Given the description of an element on the screen output the (x, y) to click on. 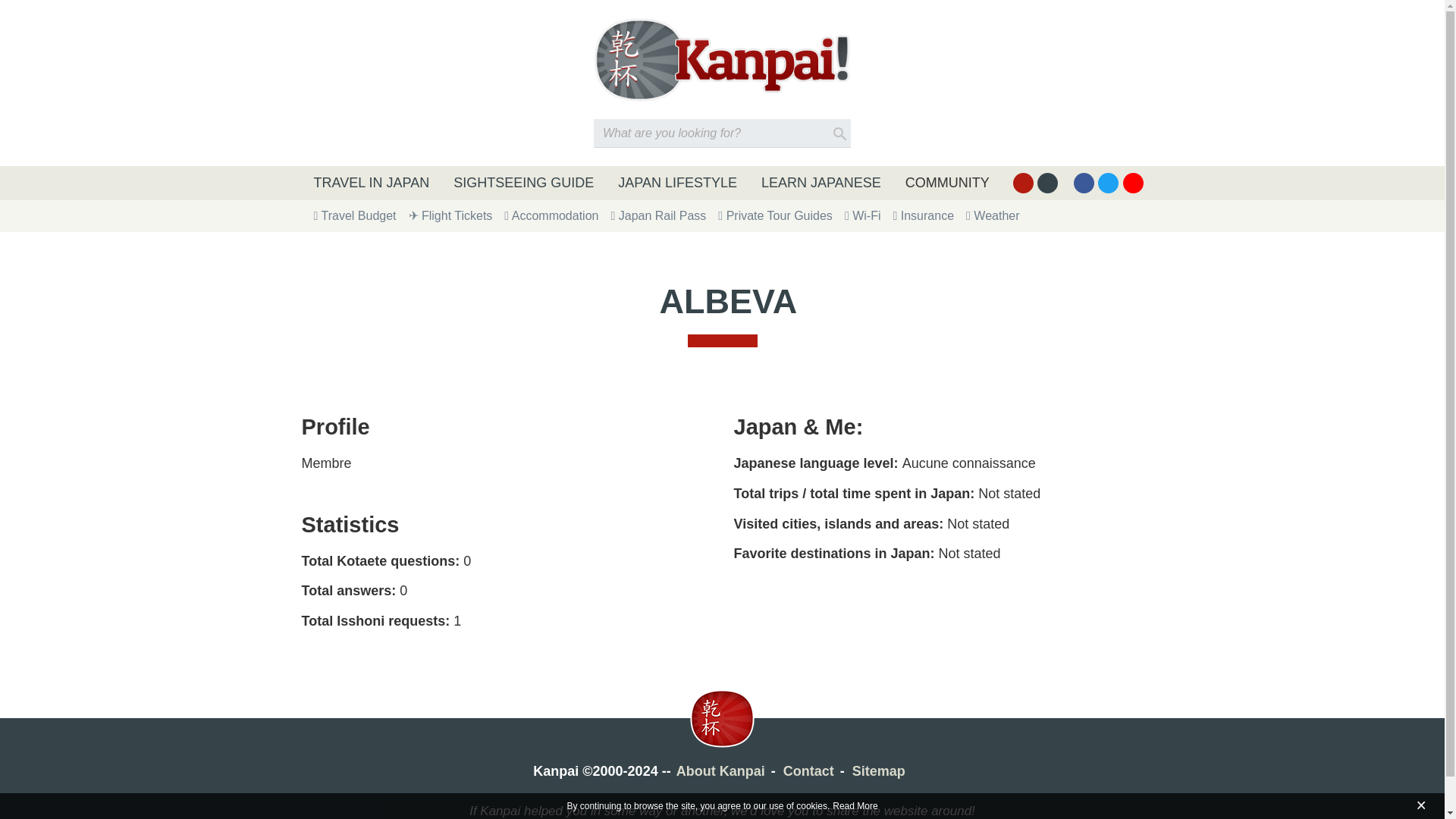
TRAVEL IN JAPAN (371, 182)
Calculate your Japan travel budget (355, 215)
Kanpai Newsletter (1047, 182)
Airfare deals to Japan: Find the cheapest flights (451, 215)
Kanpai on YouTube (1132, 182)
Kanpai on Facebook (1084, 182)
Japan Rail Pass: where to buy for cheap? (658, 215)
Kanpai-japan.com logo (722, 59)
Kanpai on Twitter (1107, 182)
Travel insurance and assistance for Japan (922, 215)
SIGHTSEEING GUIDE (523, 182)
Accommodation in Japan: A Comprehensive Guide (550, 215)
Enter the terms you wish to search for. (722, 133)
